Given the description of an element on the screen output the (x, y) to click on. 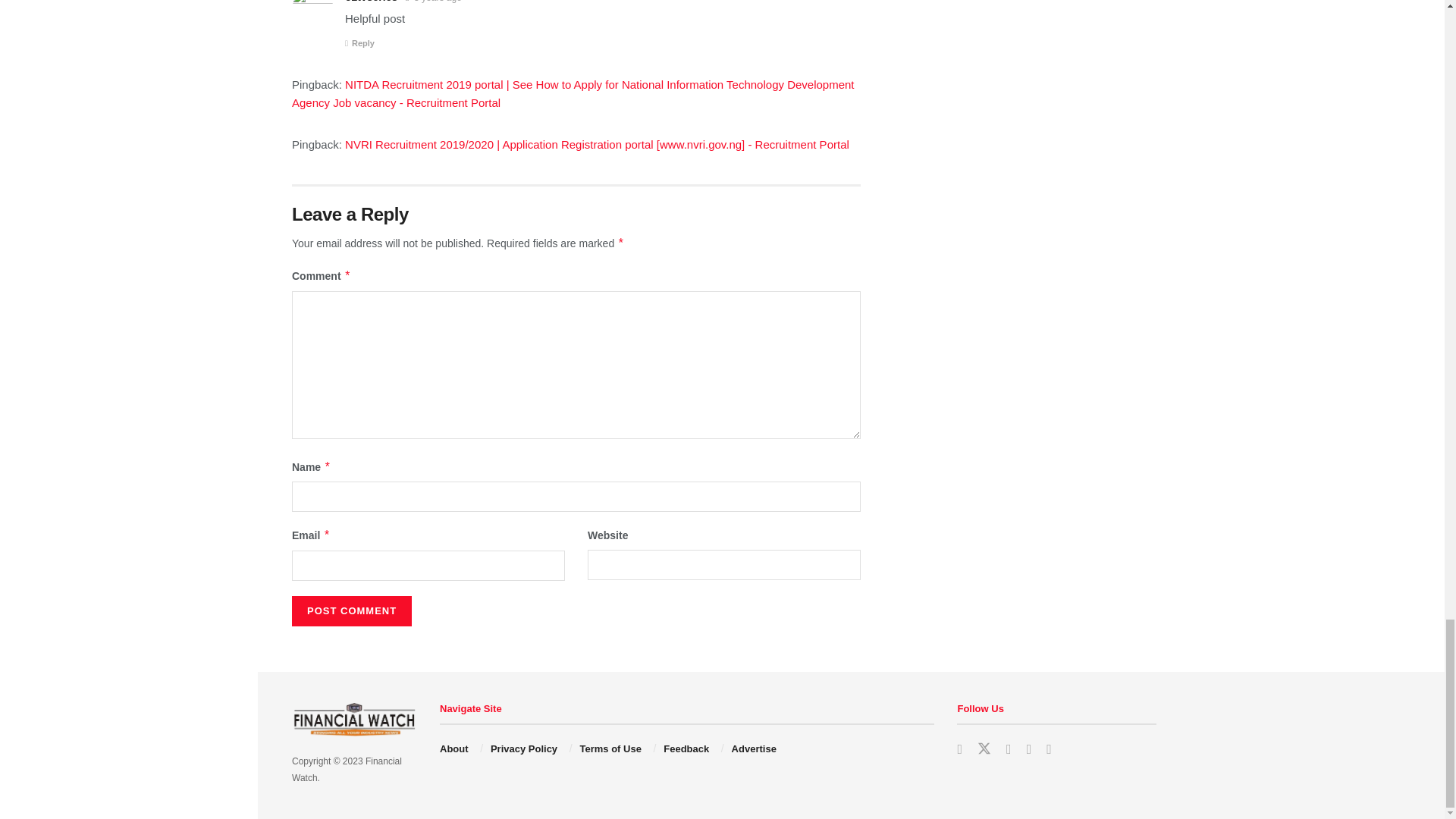
Post Comment (352, 611)
